Given the description of an element on the screen output the (x, y) to click on. 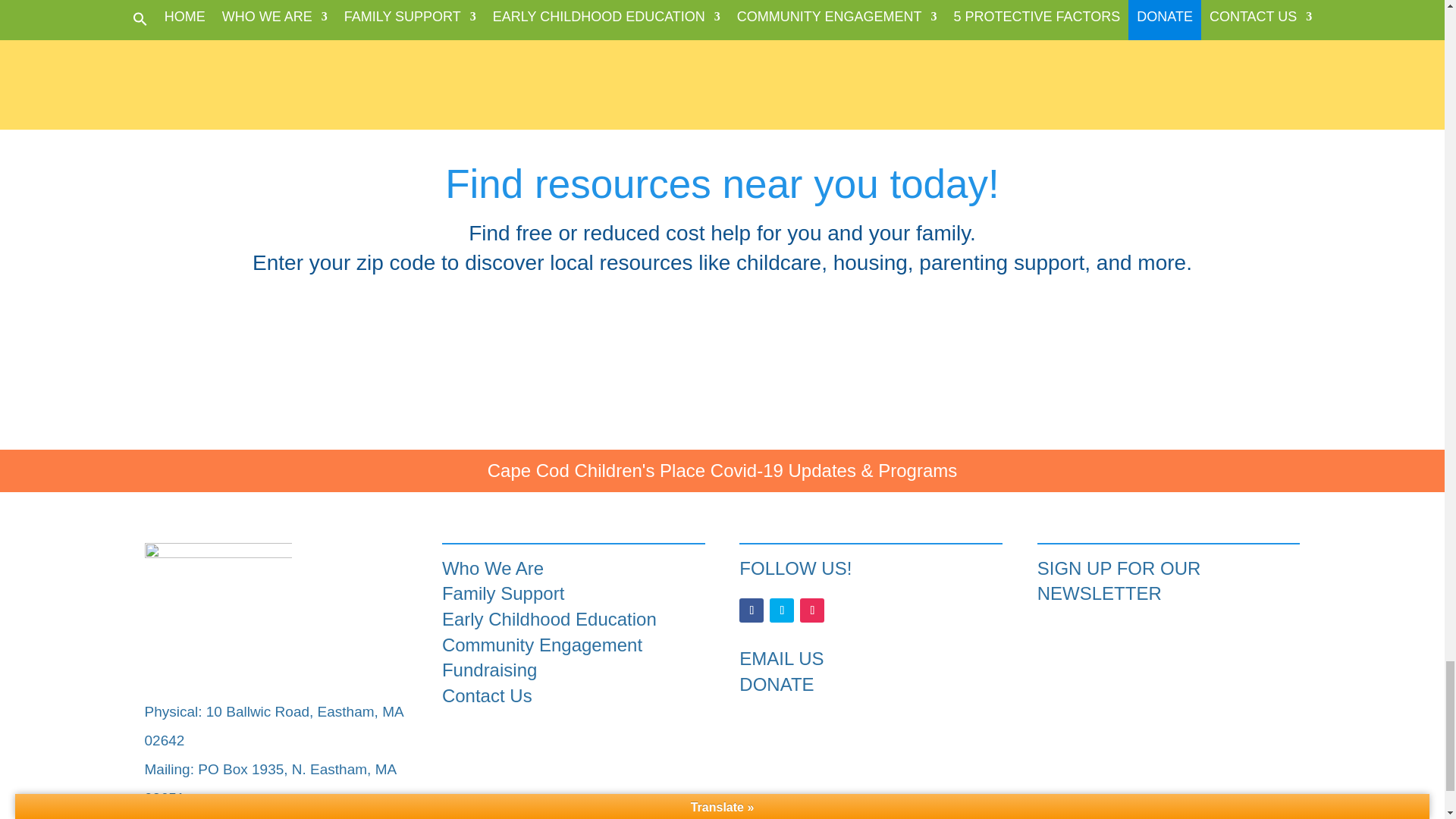
CapeCod-ChildrensPlace-company-logo-512px (217, 616)
child-planting-with-father (1118, 28)
mother-and-daughter-drawing (325, 28)
Follow on Twitter (781, 610)
Follow on Facebook (750, 610)
sidewalk-chalk-rainbow (722, 28)
Follow on Instagram (811, 610)
